Given the description of an element on the screen output the (x, y) to click on. 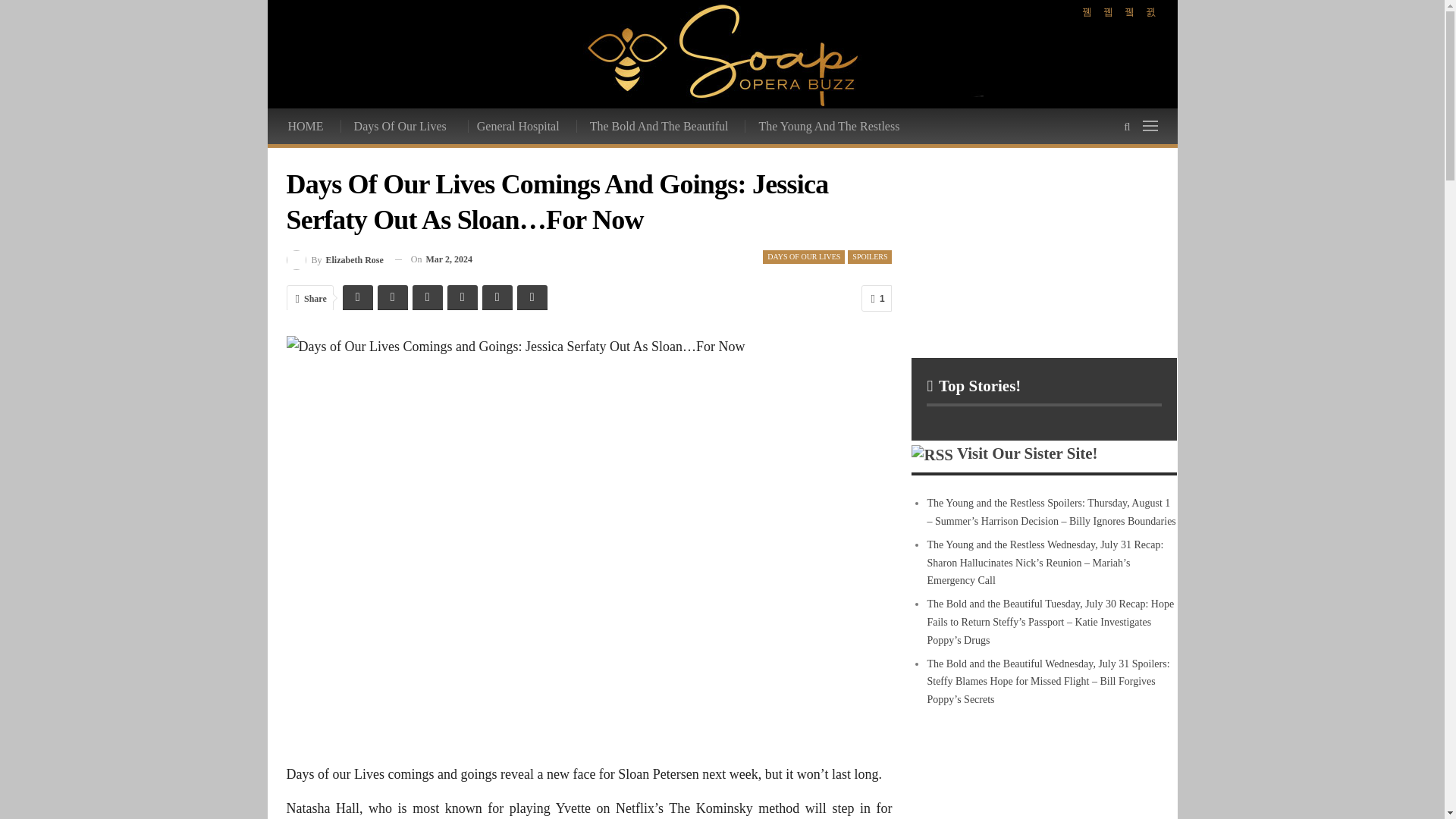
General Hospital (518, 126)
DAYS OF OUR LIVES (803, 256)
HOME (306, 126)
By Elizabeth Rose (335, 259)
SPOILERS (869, 256)
Browse Author Articles (335, 259)
1 (876, 298)
Days Of Our Lives (401, 126)
The Young And The Restless (829, 126)
The Bold And The Beautiful (660, 126)
